Given the description of an element on the screen output the (x, y) to click on. 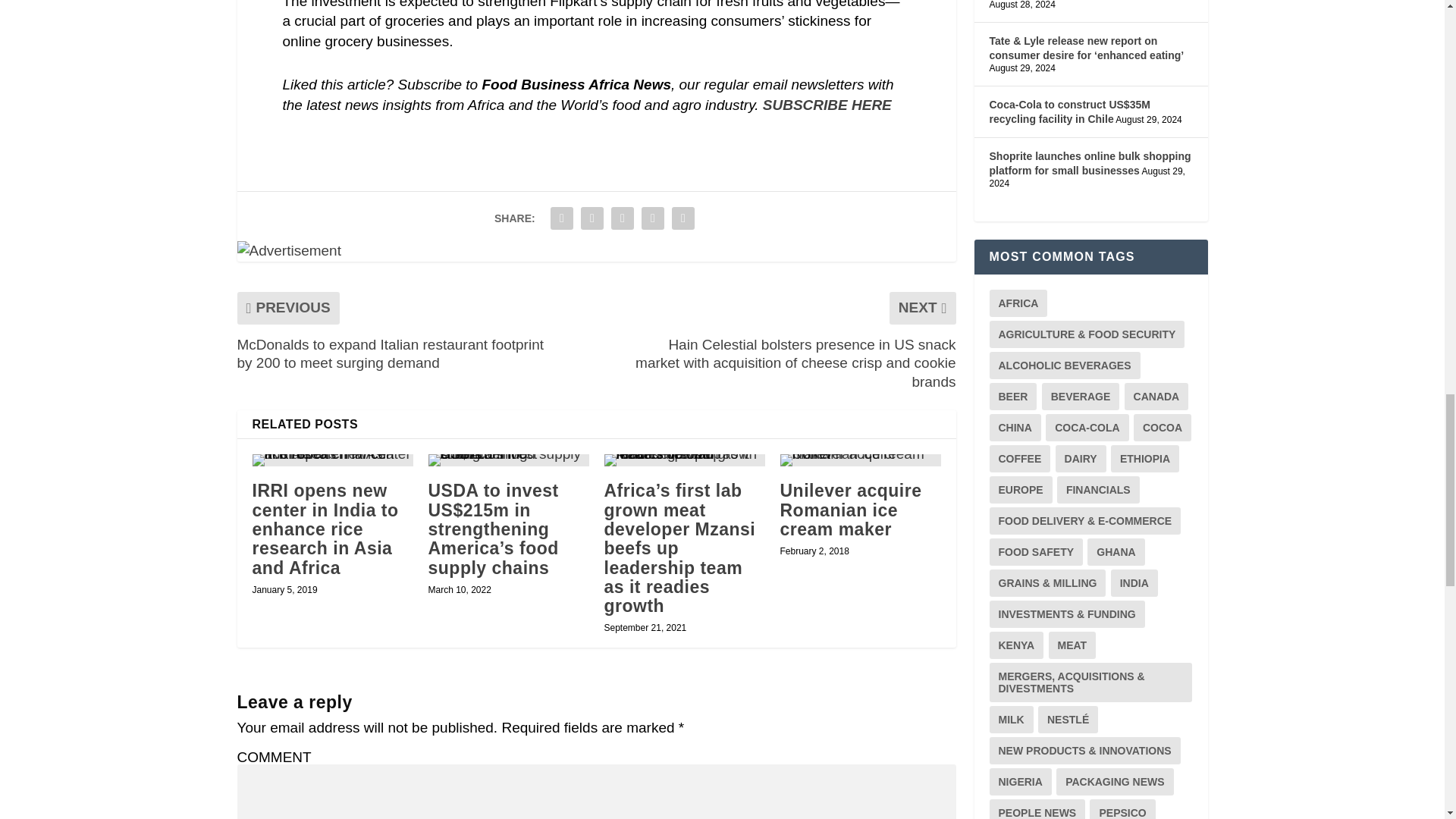
Unilever acquire Romanian ice cream maker (859, 460)
SUBSCRIBE HERE (826, 105)
